Given the description of an element on the screen output the (x, y) to click on. 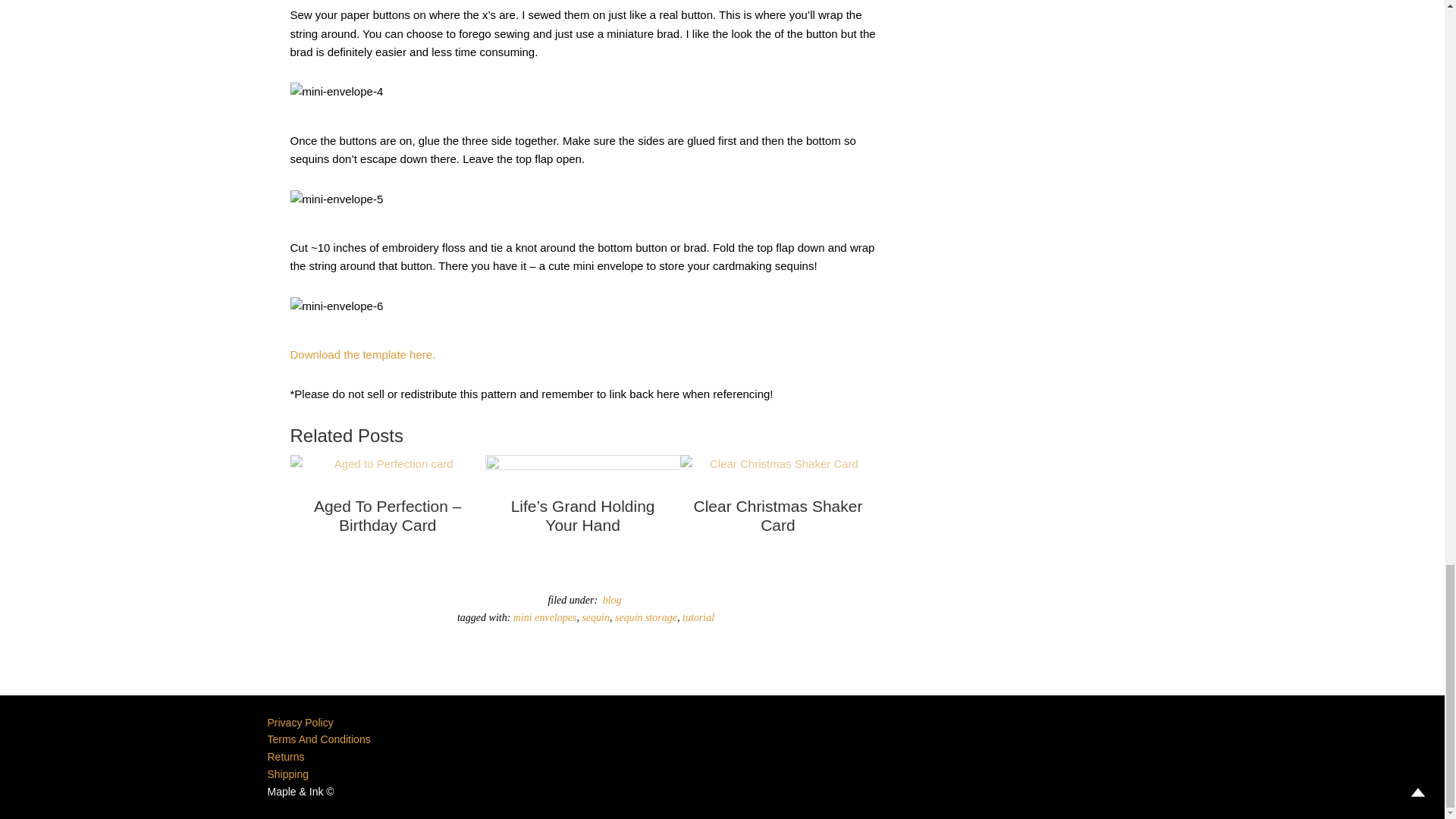
Terms And Conditions (317, 739)
sequin storage (645, 617)
Permanent Link toClear Christmas Shaker Card (777, 520)
Shipping (287, 774)
Clear Christmas Shaker Card (777, 520)
tutorial (698, 617)
mini envelopes (544, 617)
Privacy Policy (299, 722)
blog (611, 600)
Download the template here. (362, 354)
Returns (285, 756)
sequin (595, 617)
